Given the description of an element on the screen output the (x, y) to click on. 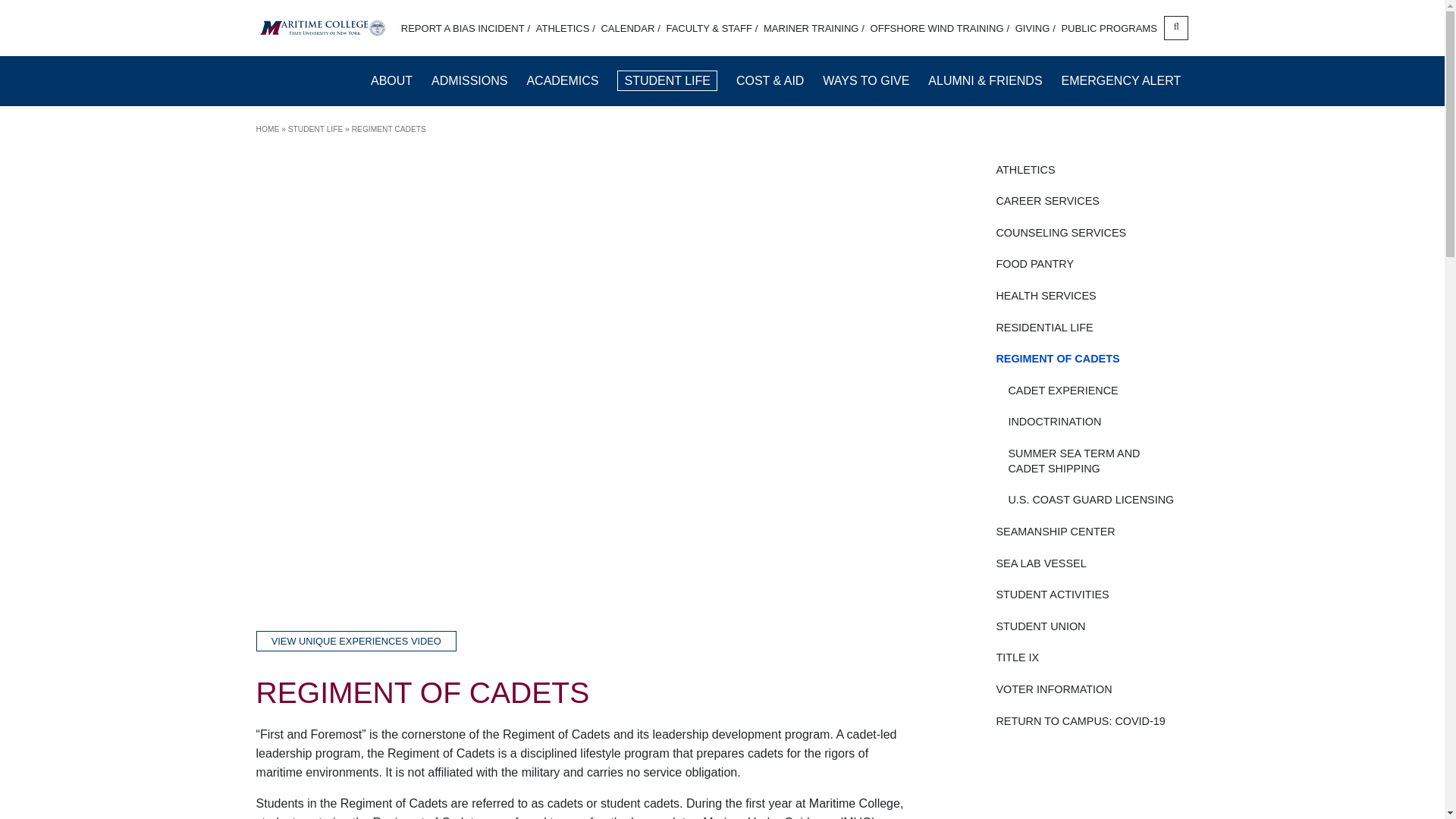
Faculty and Staff (711, 28)
GIVING (1034, 28)
MARINER TRAINING (813, 28)
Report a Bias Incident (465, 28)
ATHLETICS (565, 28)
College Calendar (629, 28)
Maritime Athletics (565, 28)
Mariner Training (813, 28)
PUBLIC PROGRAMS (1108, 28)
OFFSHORE WIND TRAINING (940, 28)
CALENDAR (629, 28)
Public Programs (1108, 28)
Offshore Wind Training (940, 28)
REPORT A BIAS INCIDENT (465, 28)
